Given the description of an element on the screen output the (x, y) to click on. 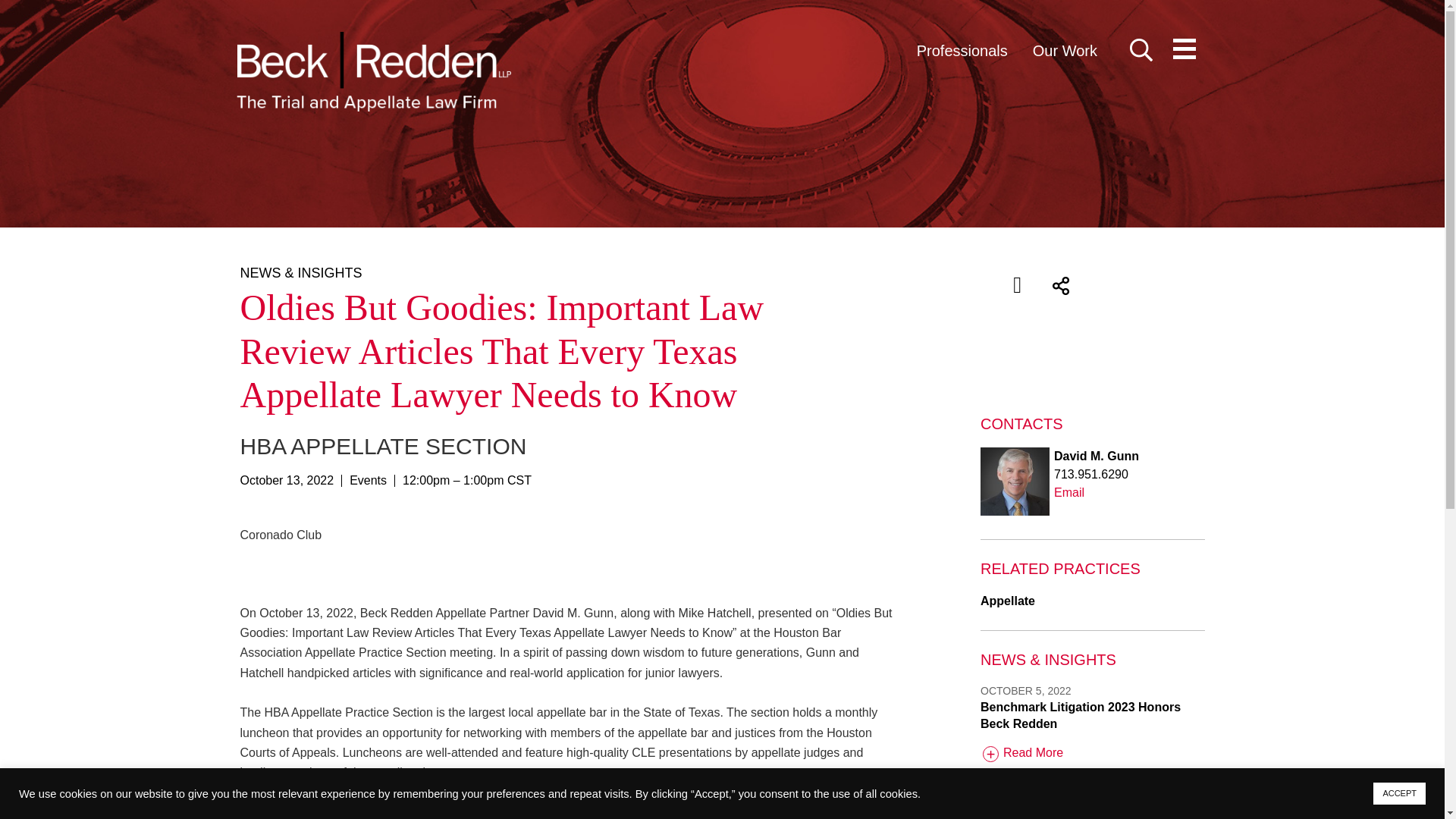
Beck Redden (373, 71)
Professionals (962, 50)
Our Work (1064, 50)
